Given the description of an element on the screen output the (x, y) to click on. 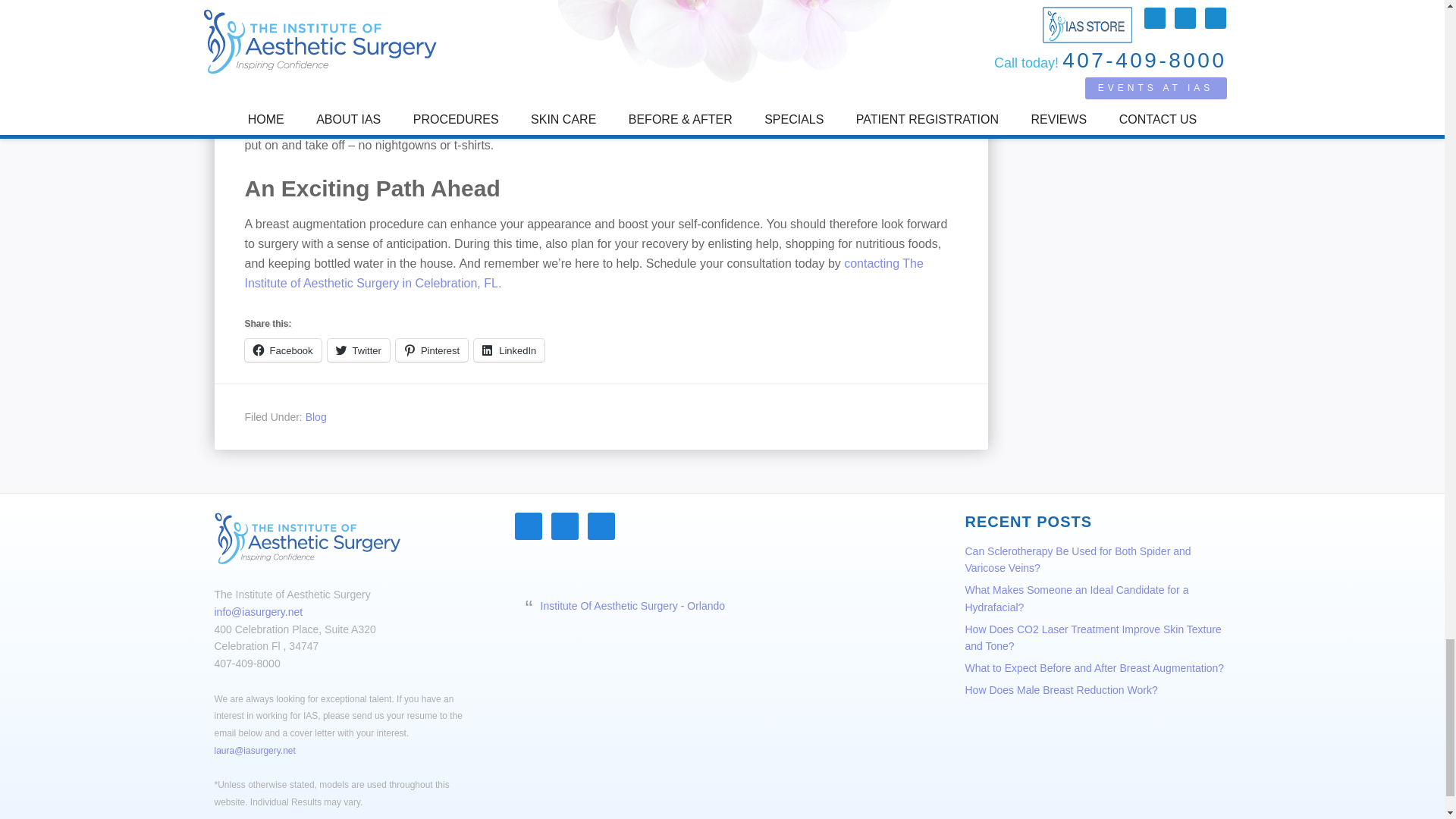
Click to share on Pinterest (431, 350)
Click to share on LinkedIn (509, 350)
Click to share on Facebook (282, 350)
Click to share on Twitter (358, 350)
